Given the description of an element on the screen output the (x, y) to click on. 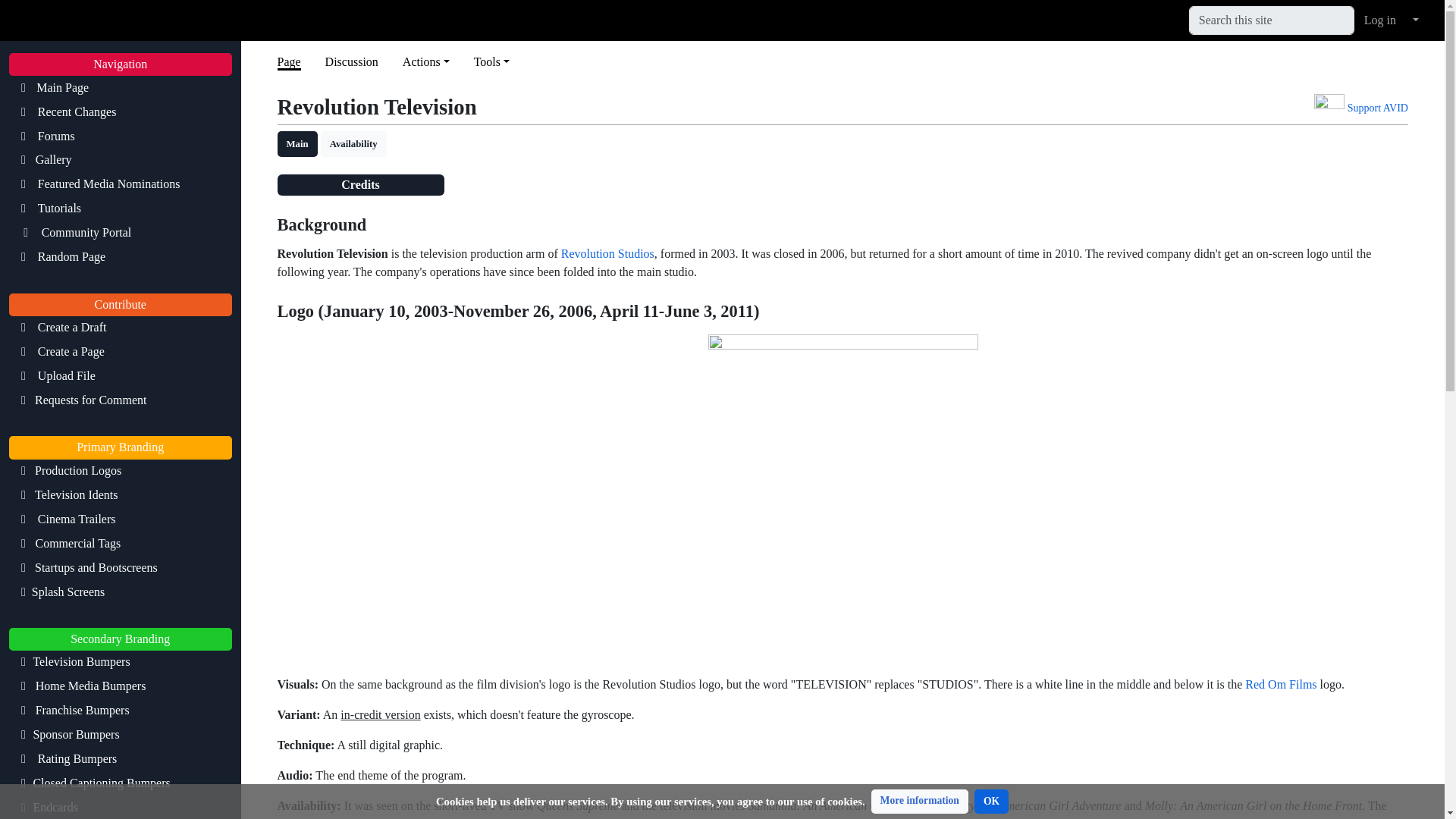
Secondary Branding (119, 639)
Upload File (119, 375)
Sponsor Bumpers (119, 734)
Community Portal (119, 232)
Endcards (119, 807)
Tutorials (119, 208)
Navigation (119, 64)
Gallery (119, 159)
Franchise Bumpers (119, 710)
Main Page (119, 87)
